Given the description of an element on the screen output the (x, y) to click on. 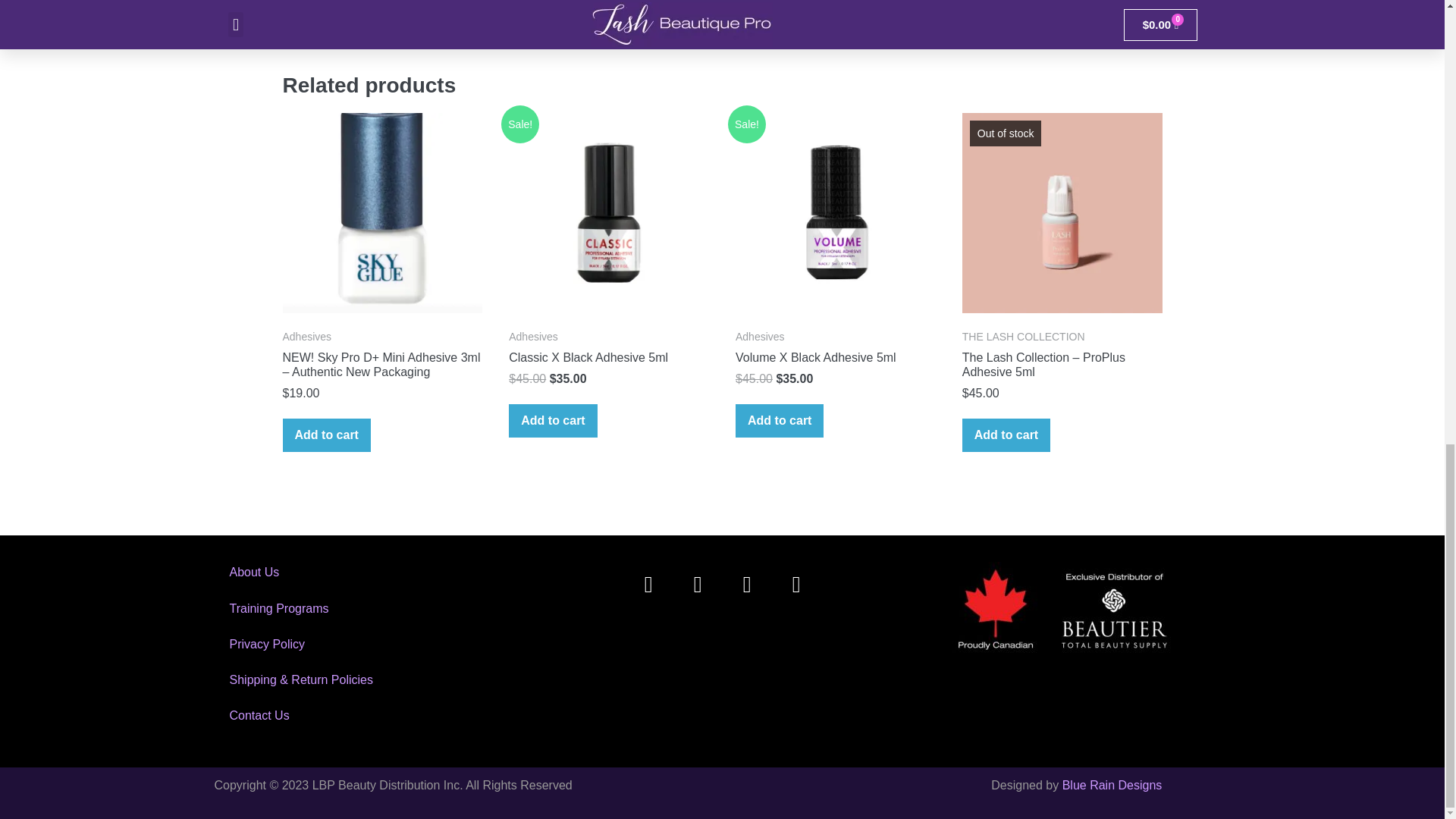
proudly-canadian-black-b (1065, 610)
